Given the description of an element on the screen output the (x, y) to click on. 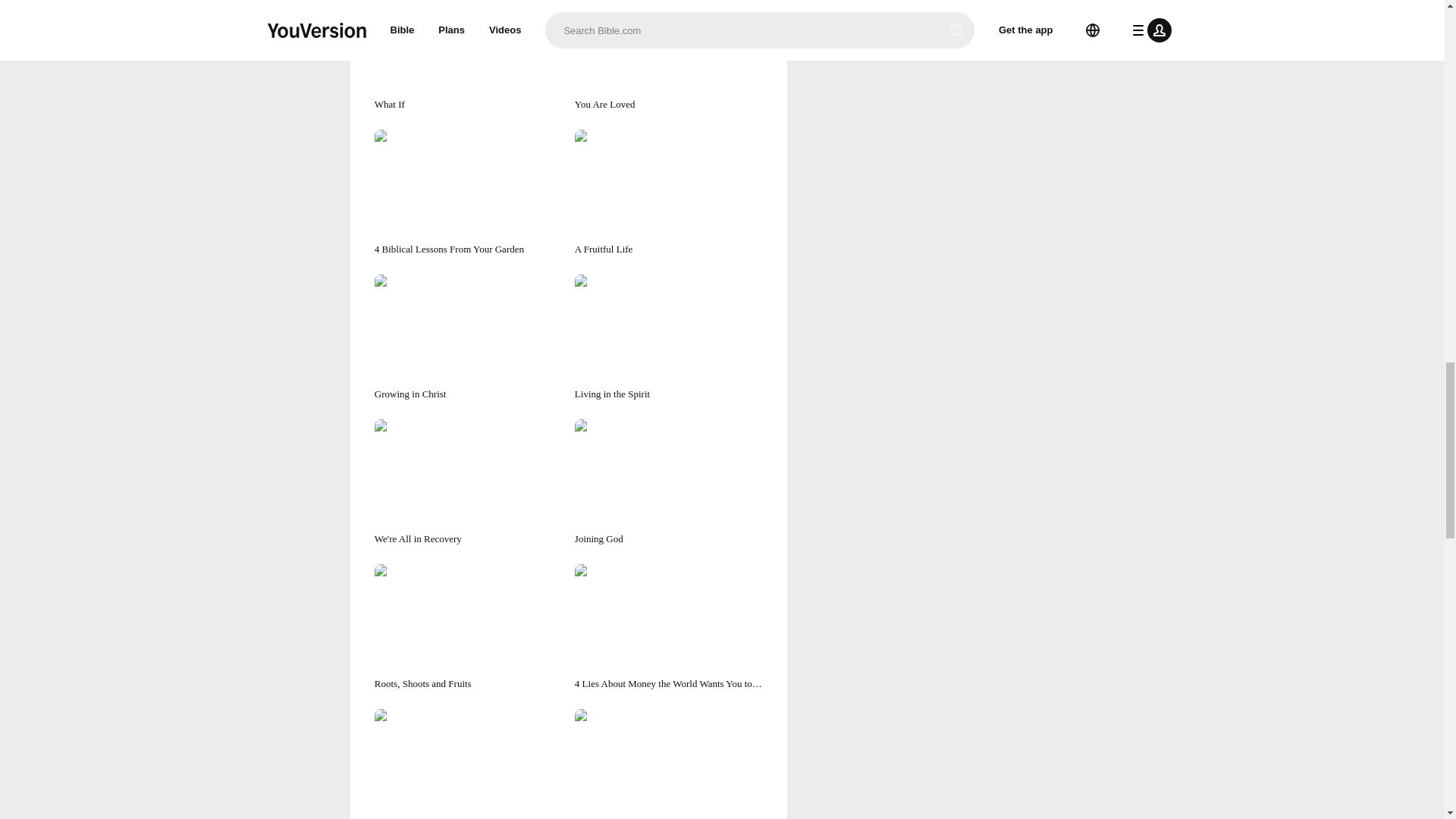
Growing in Christ (468, 337)
We're All in Recovery (468, 482)
Living in the Spirit (668, 337)
You Are Loved (668, 55)
4 Biblical Lessons From Your Garden (468, 192)
What If (468, 55)
A Fruitful Life (668, 192)
